Given the description of an element on the screen output the (x, y) to click on. 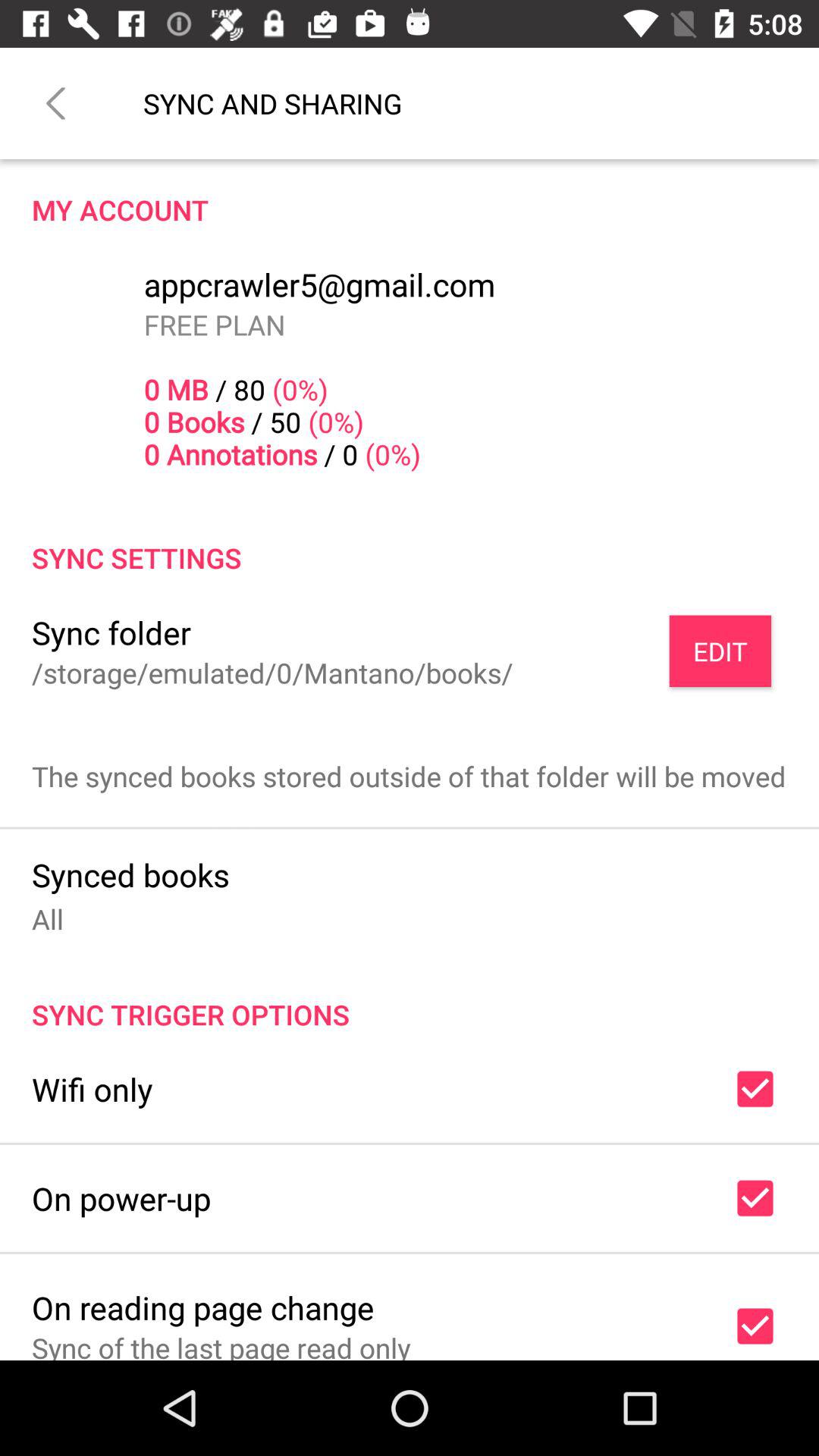
launch item above storage emulated 0 icon (111, 632)
